Given the description of an element on the screen output the (x, y) to click on. 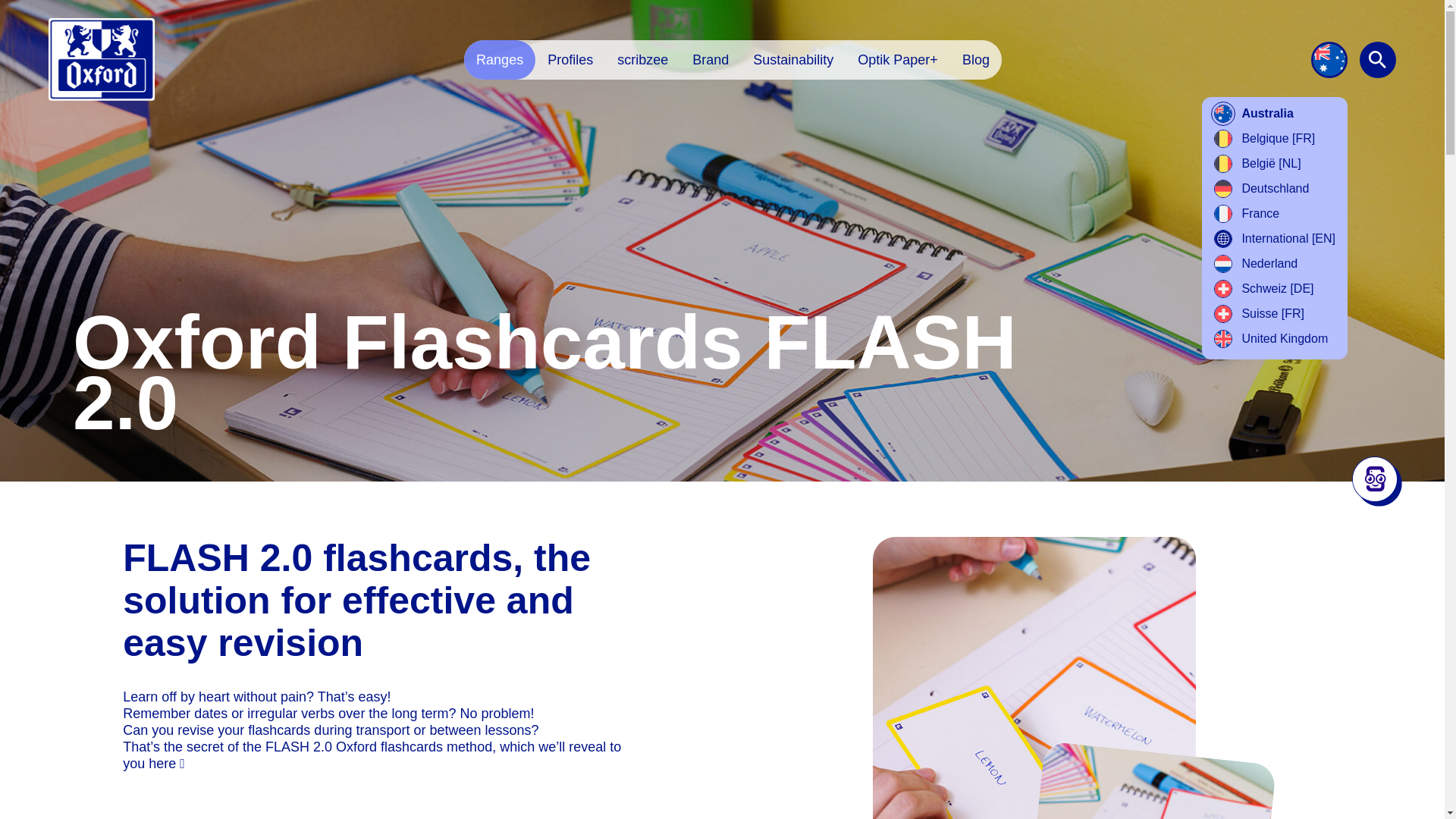
Profiles (570, 59)
Compatible with scribzee (1377, 481)
Sustainability (793, 59)
Brand (710, 59)
Ranges (499, 59)
Blog (975, 59)
My Oxford (101, 59)
Australia (1253, 113)
scribzee (642, 59)
